Given the description of an element on the screen output the (x, y) to click on. 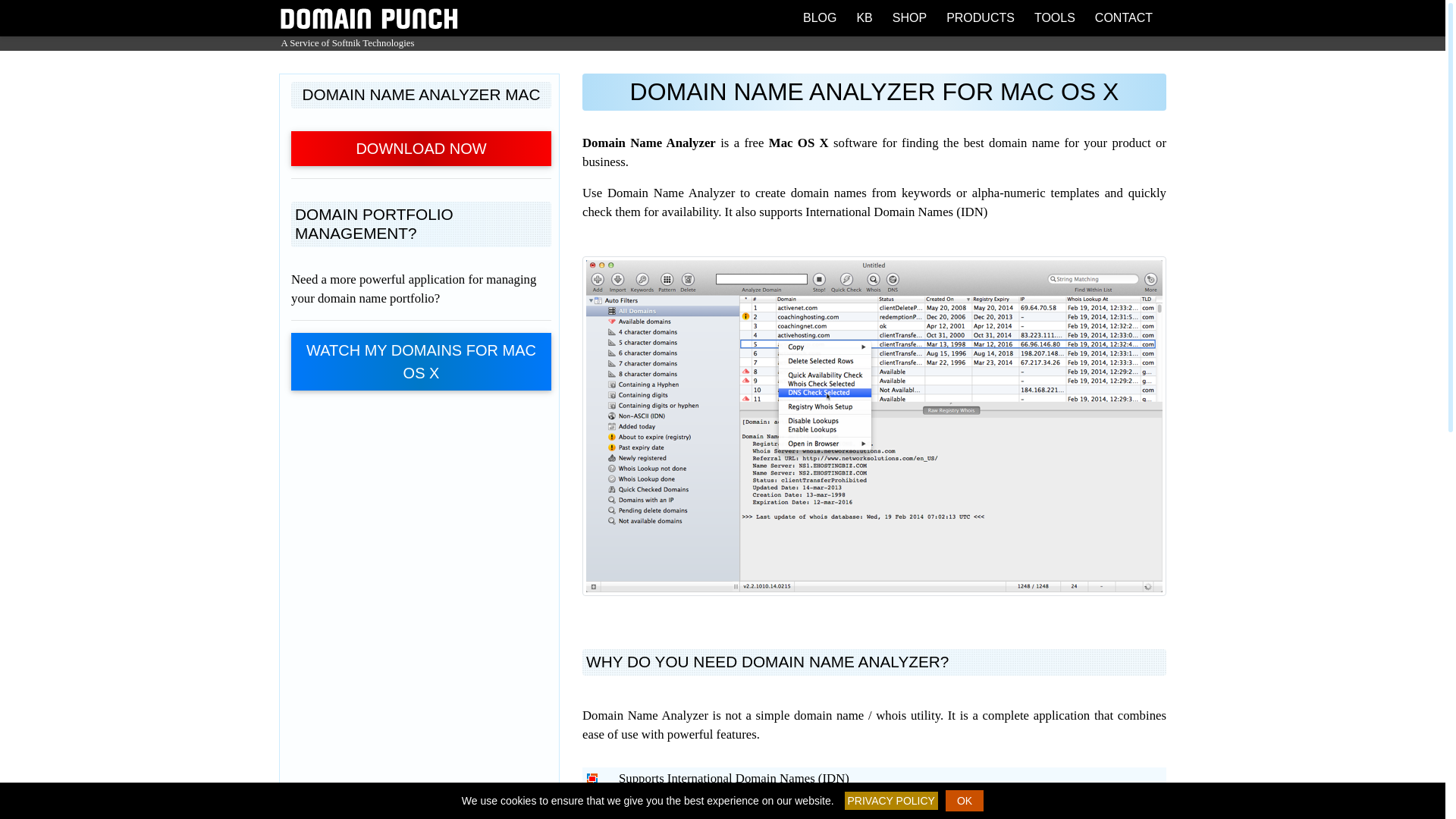
KB (863, 18)
DOWNLOAD NOW (421, 148)
CONTACT (1123, 18)
Privacy Policy (890, 800)
PRODUCTS (980, 18)
TOOLS (1054, 18)
WATCH MY DOMAINS FOR MAC OS X (421, 361)
BLOG (819, 18)
SHOP (909, 18)
